Given the description of an element on the screen output the (x, y) to click on. 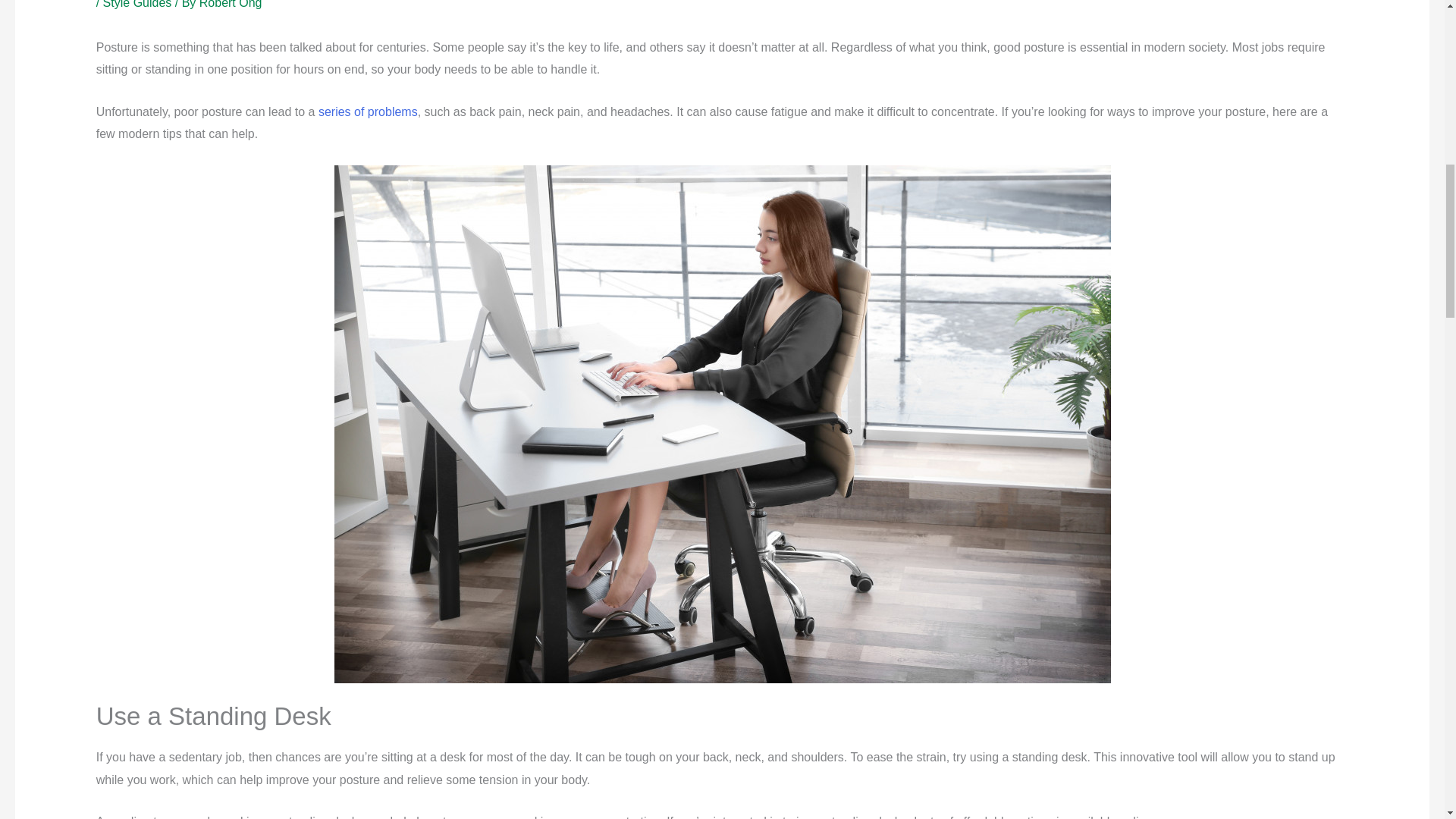
View all posts by Robert Ong (230, 4)
Style Guides (137, 4)
Robert Ong (230, 4)
series of problems (367, 111)
